Given the description of an element on the screen output the (x, y) to click on. 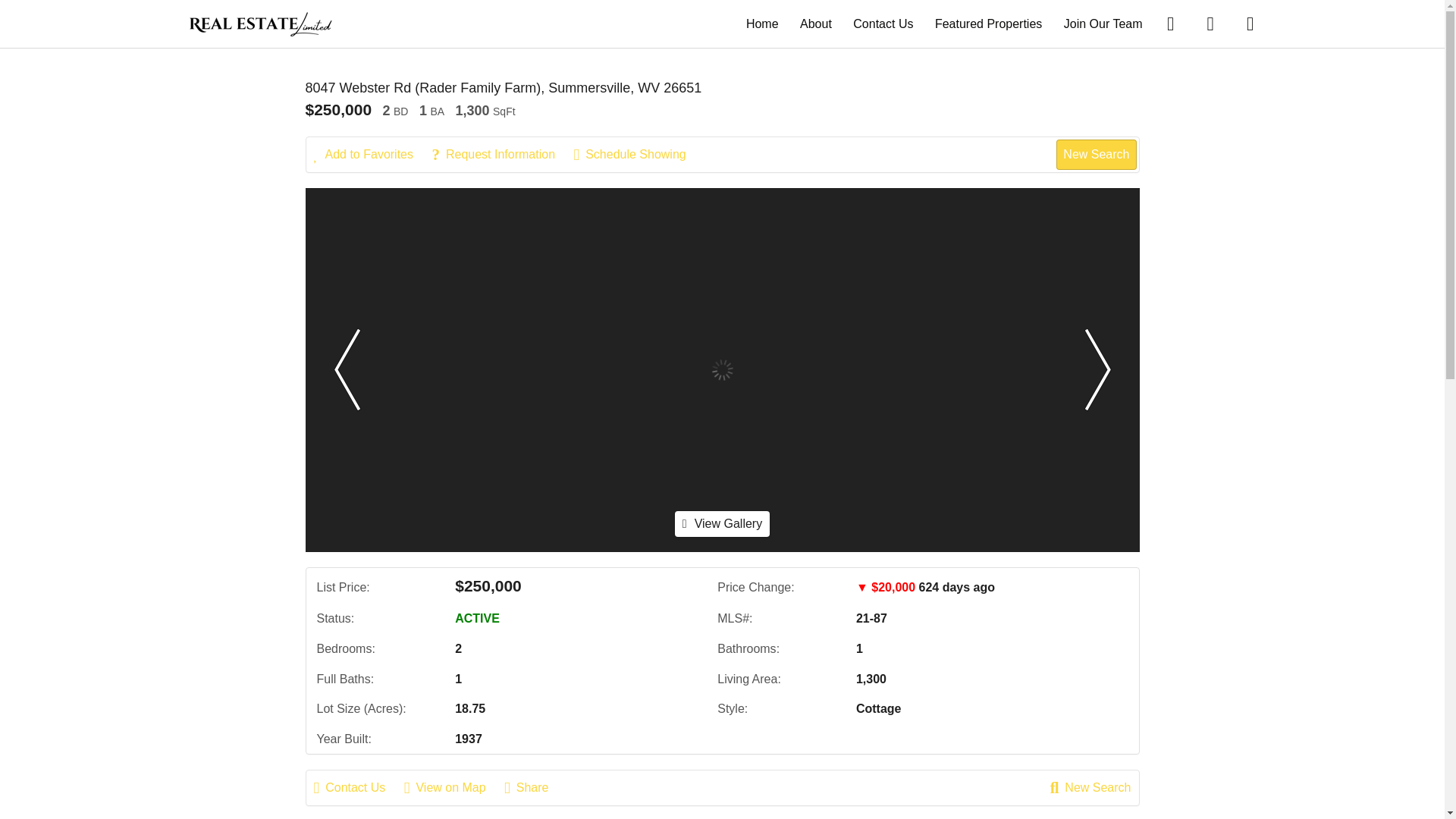
Schedule Showing (636, 154)
Request Information (500, 154)
Share (533, 787)
View on Map (452, 787)
Home (761, 23)
Join Our Team (1103, 23)
Add to Favorites (371, 154)
Contact Us (357, 787)
New Search (1090, 787)
Contact Us (882, 23)
